Given the description of an element on the screen output the (x, y) to click on. 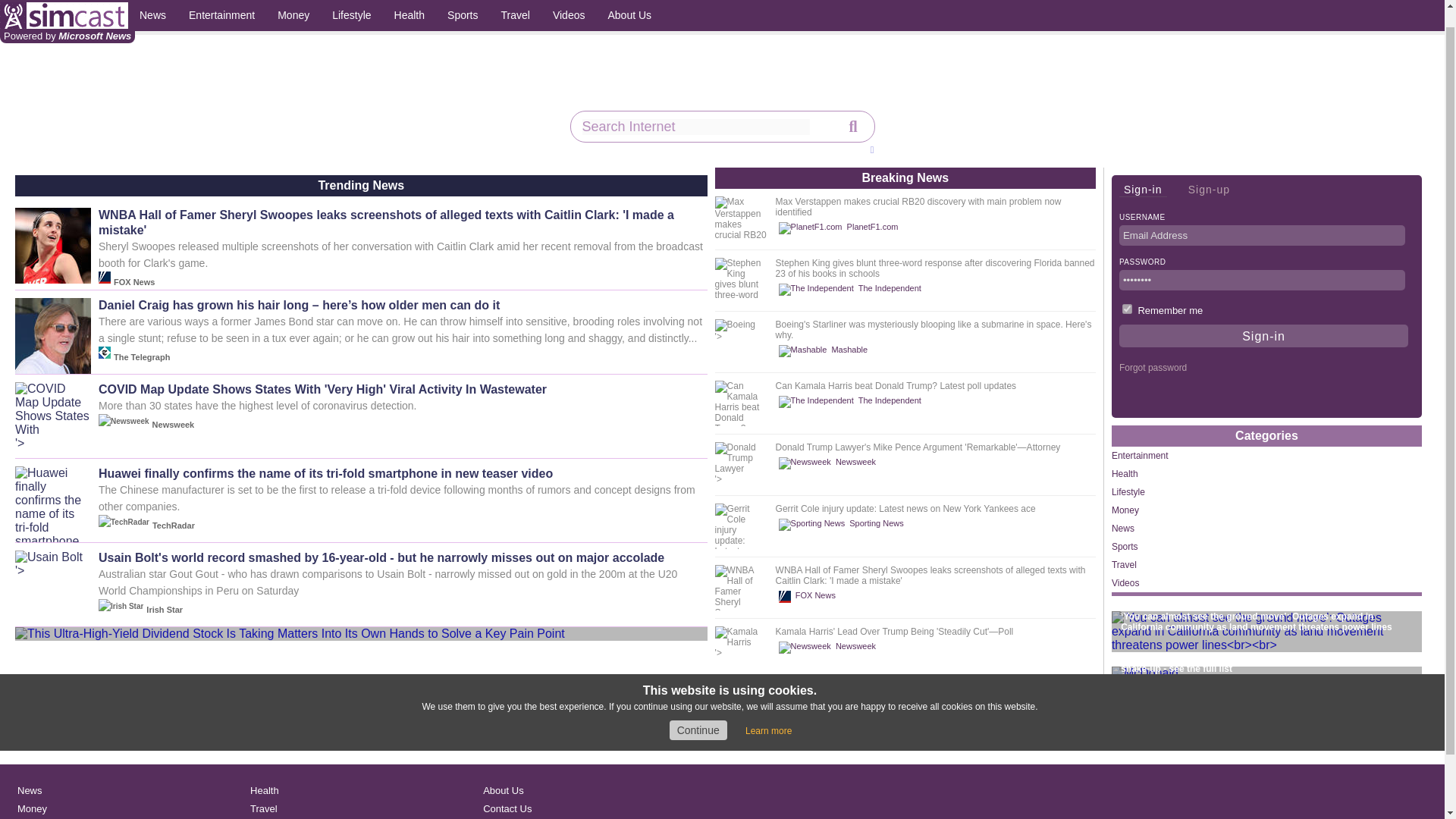
Health (408, 5)
Agree to GDPR (697, 711)
Lifestyle (350, 5)
News (152, 5)
  PlanetF1.com   (840, 227)
Videos (568, 5)
  The Independent   (852, 401)
